Given the description of an element on the screen output the (x, y) to click on. 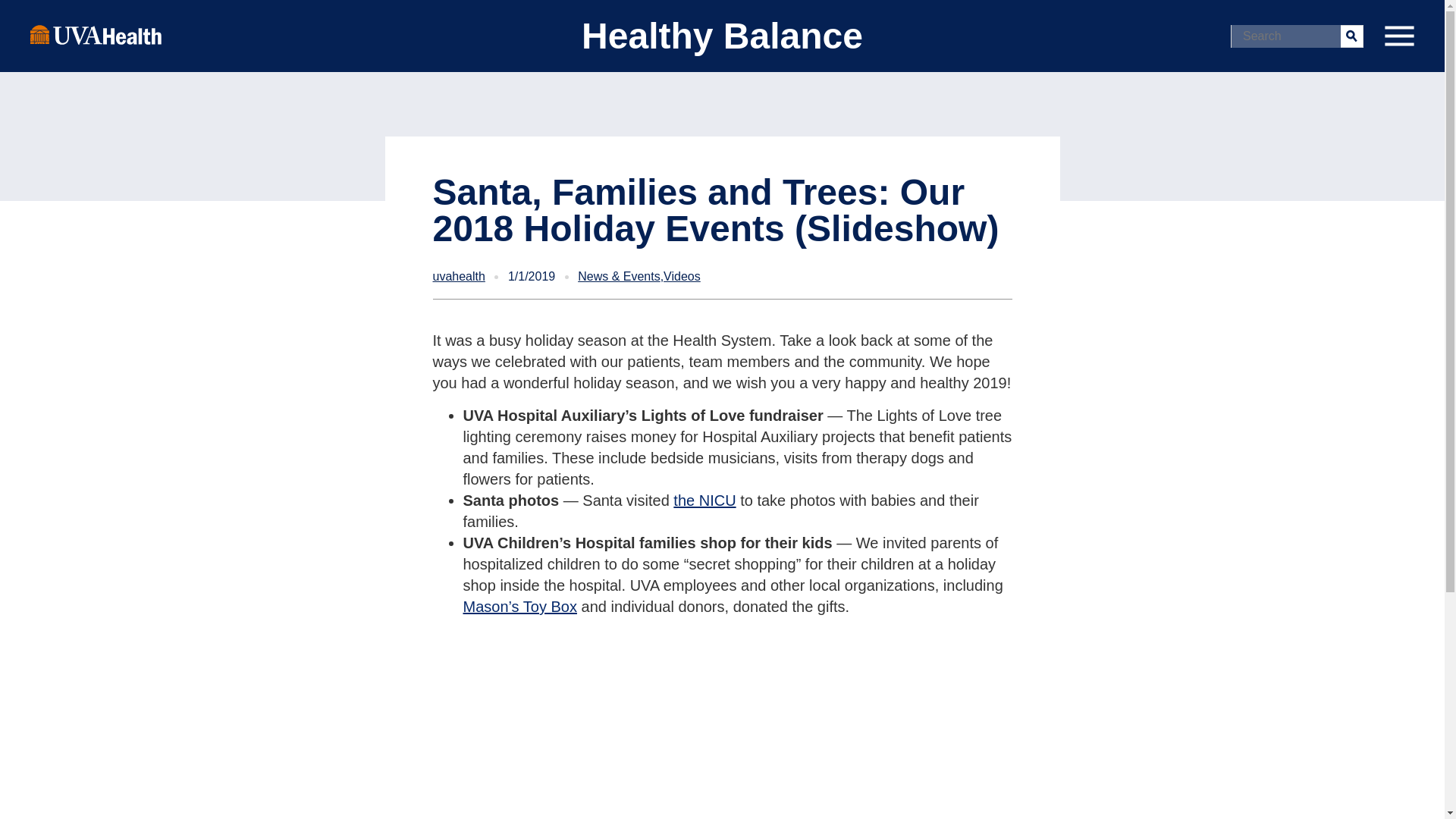
Submit the Search Form (1351, 35)
Search Toggle (15, 11)
uvahealth (458, 276)
UVA Health logo of UVA Health (95, 34)
Search Submit (1351, 35)
Videos (681, 276)
menu toggle (1398, 36)
Healthy Balance (722, 35)
the NICU (703, 500)
Posts by uvahealth (458, 276)
